Given the description of an element on the screen output the (x, y) to click on. 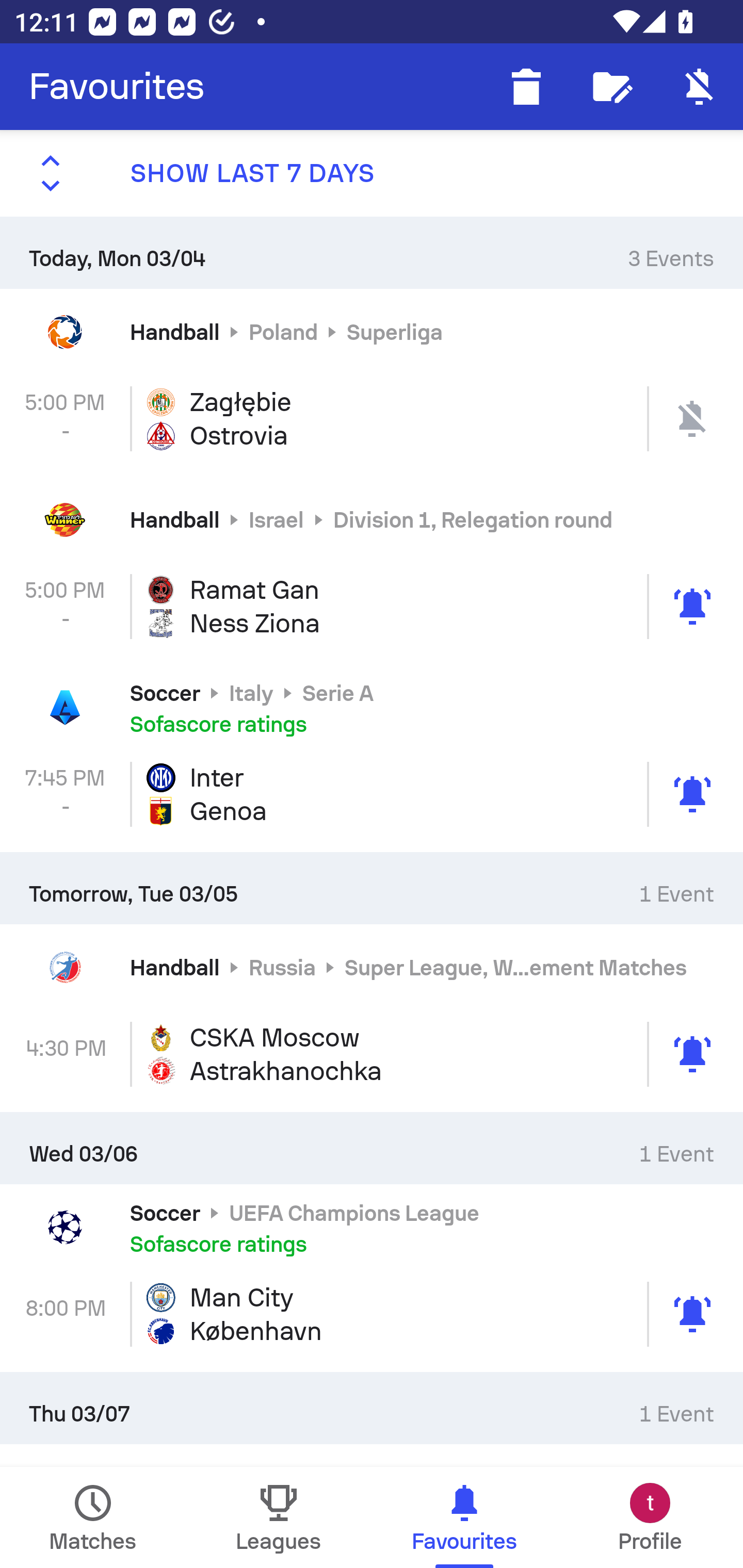
Favourites (116, 86)
Delete finished (525, 86)
Follow editor (612, 86)
Enable notifications (699, 86)
SHOW LAST 7 DAYS (371, 173)
Today, Mon 03/04 3 Events (371, 252)
Handball Poland Superliga (371, 331)
5:00 PM - Zagłębie Ostrovia (371, 418)
Handball Israel Division 1, Relegation round (371, 519)
5:00 PM - Ramat Gan Ness Ziona (371, 605)
Soccer Italy Serie A Sofascore ratings (371, 707)
7:45 PM - Inter Genoa (371, 794)
Tomorrow, Tue 03/05 1 Event (371, 887)
4:30 PM CSKA Moscow Astrakhanochka (371, 1054)
Wed 03/06 1 Event (371, 1147)
Soccer UEFA Champions League Sofascore ratings (371, 1227)
8:00 PM Man City København (371, 1314)
Thu 03/07 1 Event (371, 1408)
Matches (92, 1517)
Leagues (278, 1517)
Profile (650, 1517)
